Given the description of an element on the screen output the (x, y) to click on. 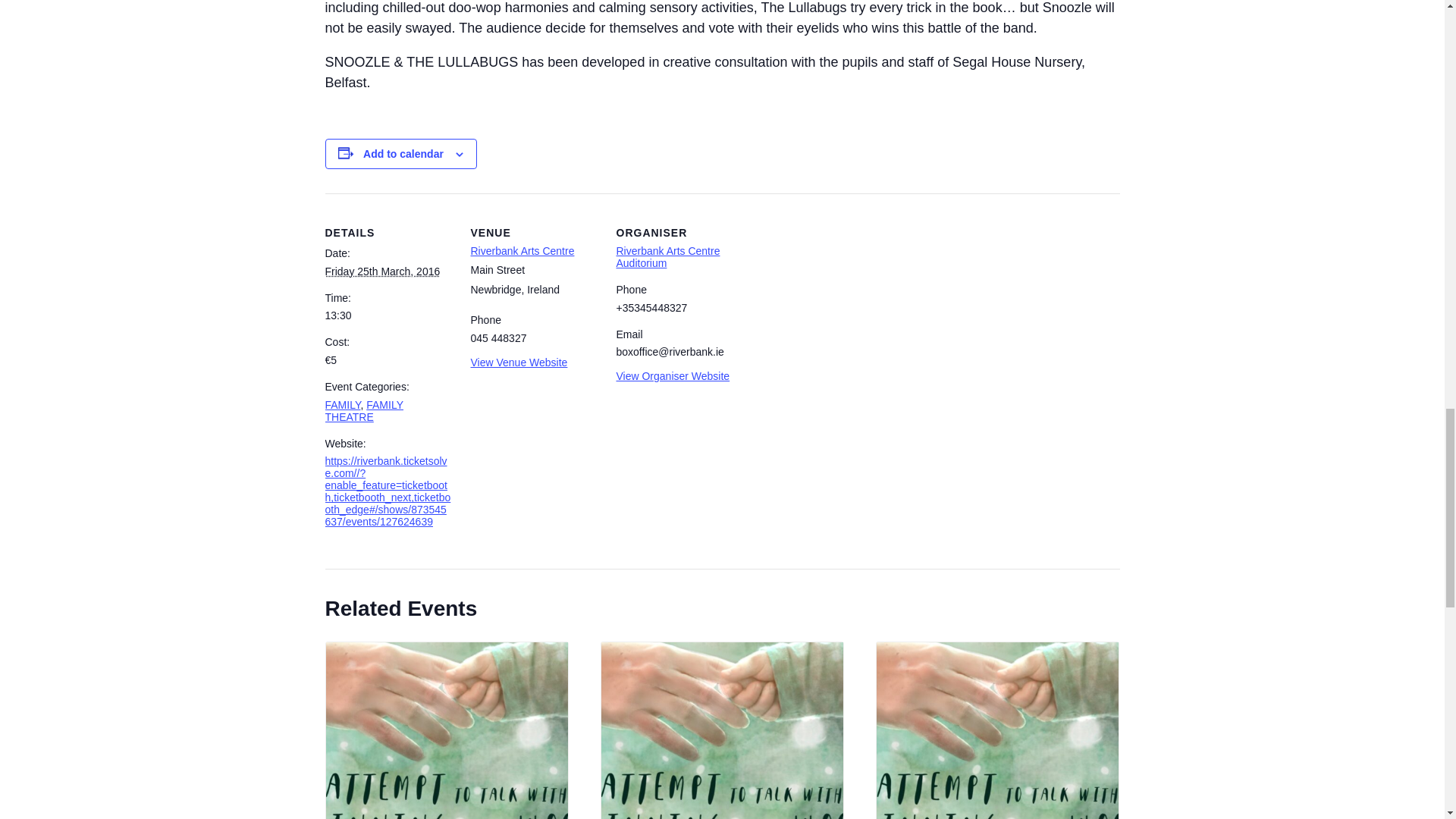
2016-03-25 (387, 315)
2016-03-25 (381, 271)
Riverbank Arts Centre Auditorium (667, 256)
